Given the description of an element on the screen output the (x, y) to click on. 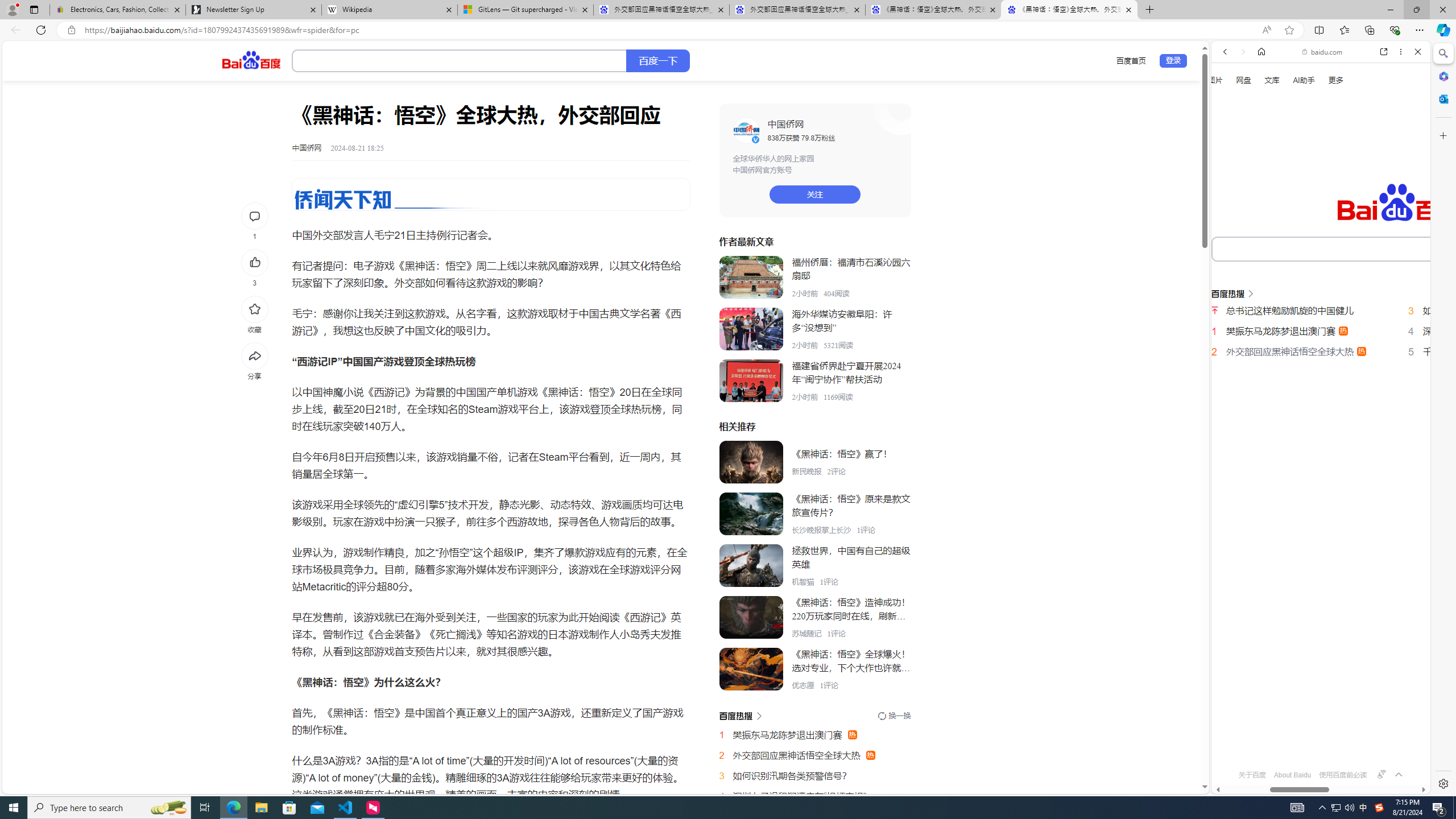
Search Filter, Search Tools (1350, 192)
Wikipedia (390, 9)
English (US) (1320, 329)
